Given the description of an element on the screen output the (x, y) to click on. 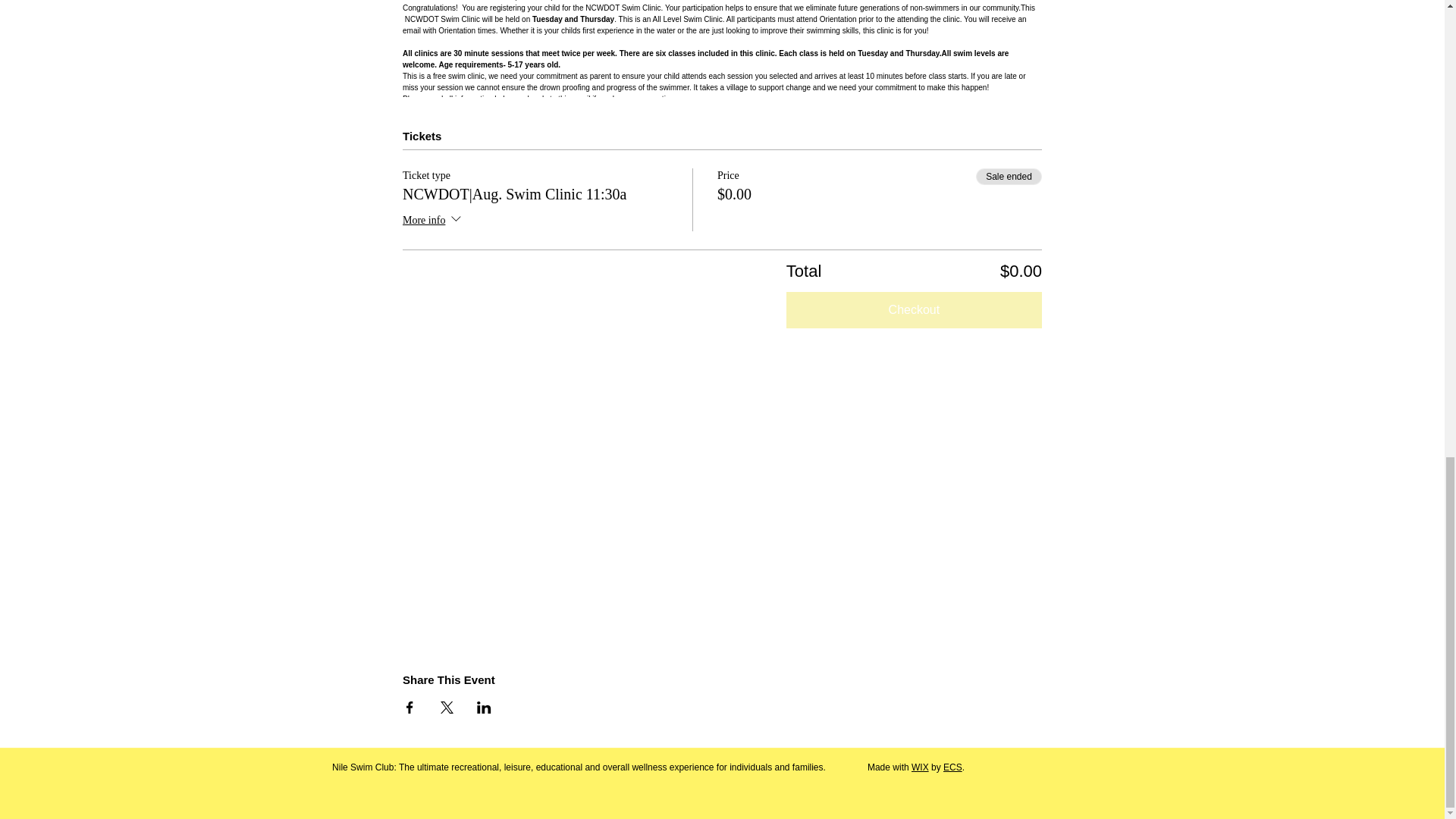
Checkout (914, 309)
More info (433, 220)
WIX (919, 767)
